Given the description of an element on the screen output the (x, y) to click on. 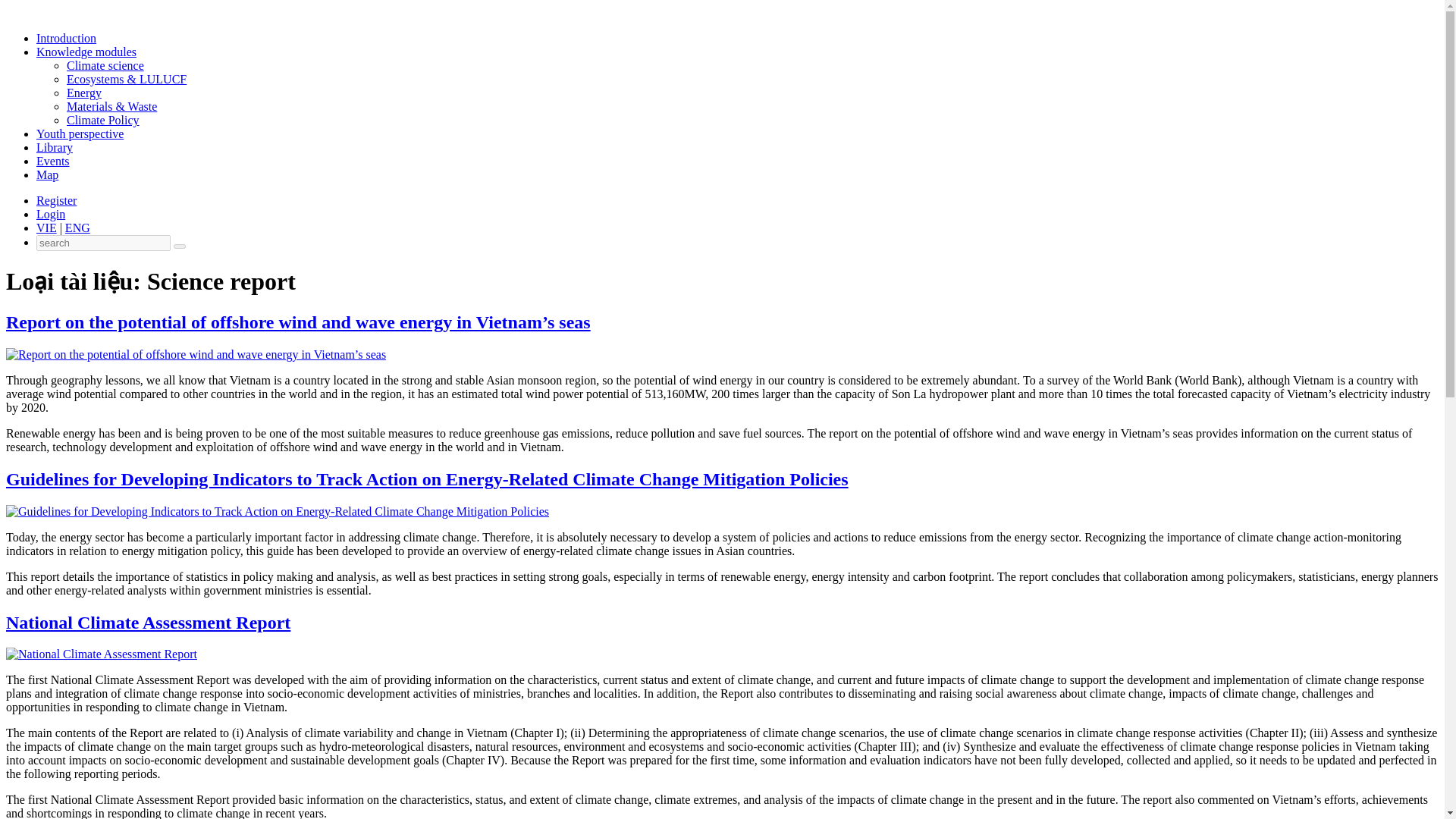
Map (47, 174)
VIE (46, 227)
Introduction (66, 38)
Register (56, 200)
Login (50, 214)
National Climate Assessment Report (147, 622)
Youth perspective (79, 133)
Energy (83, 92)
Climate Policy (102, 119)
